Given the description of an element on the screen output the (x, y) to click on. 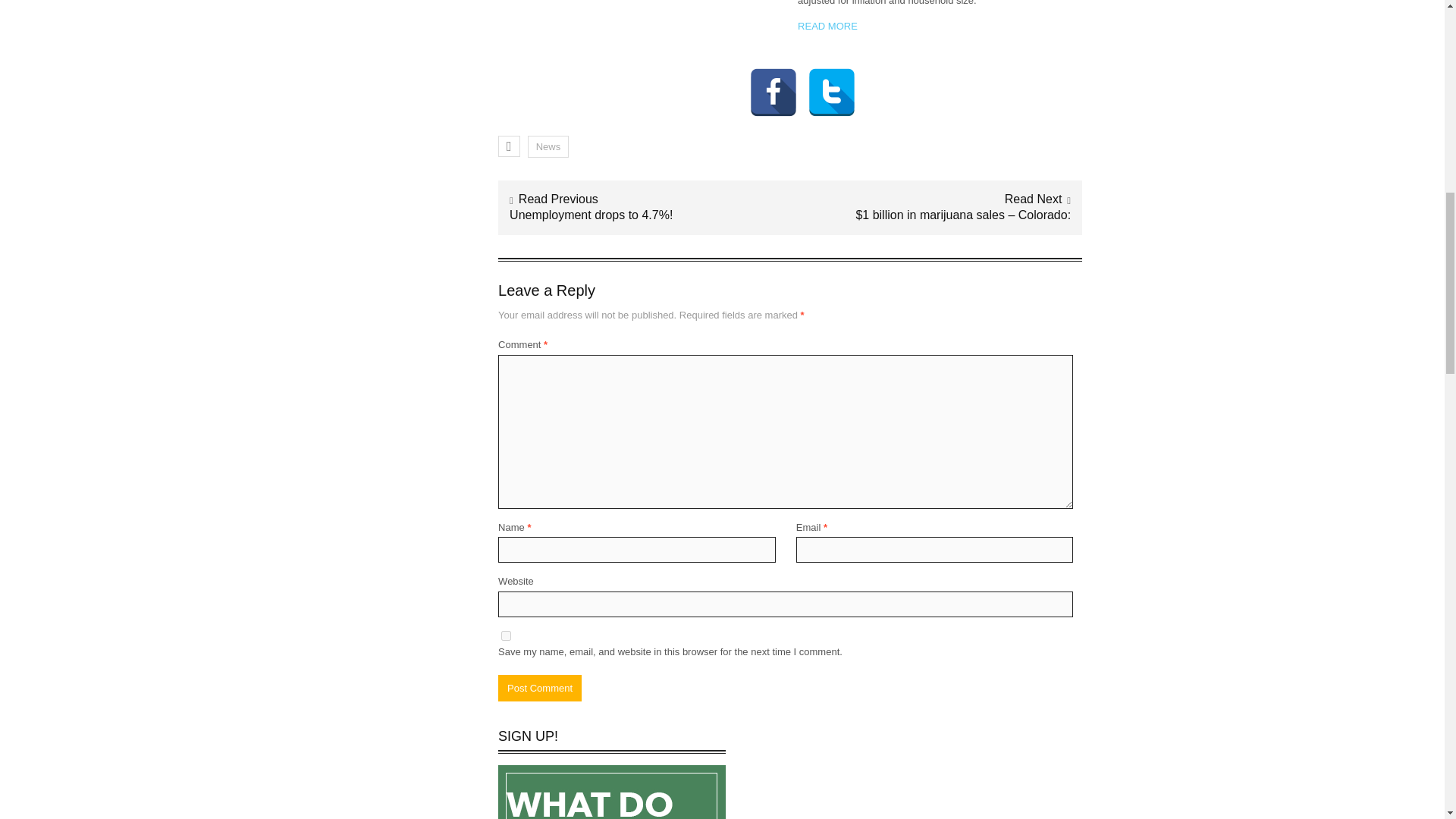
READ MORE (827, 25)
yes (505, 635)
Post Comment (538, 687)
Facebook (773, 71)
Twitter (831, 71)
News (548, 146)
Post Comment (538, 687)
